Given the description of an element on the screen output the (x, y) to click on. 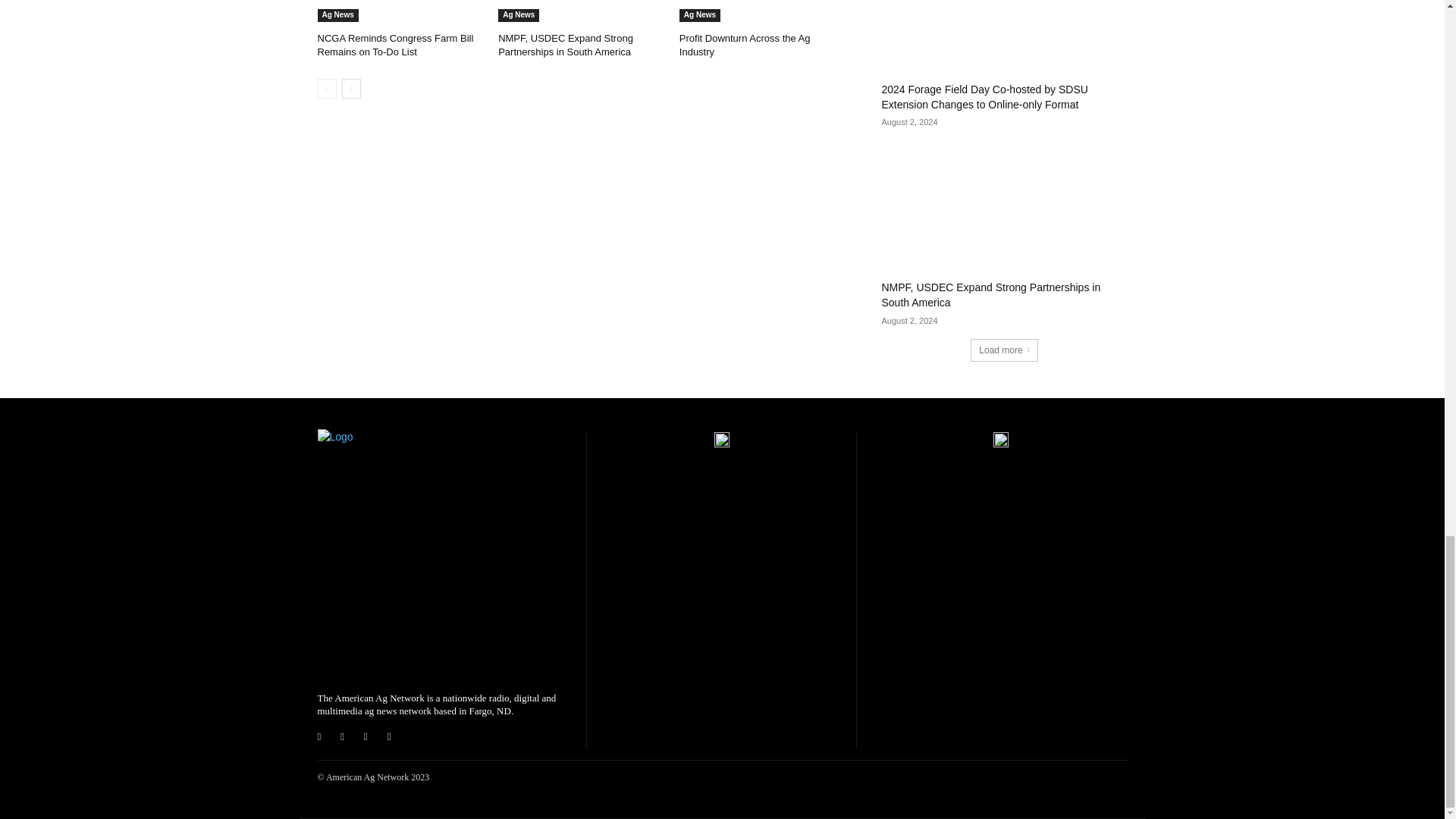
NCGA Reminds Congress Farm Bill Remains on To-Do List (395, 44)
NCGA Reminds Congress Farm Bill Remains on To-Do List (400, 10)
